Given the description of an element on the screen output the (x, y) to click on. 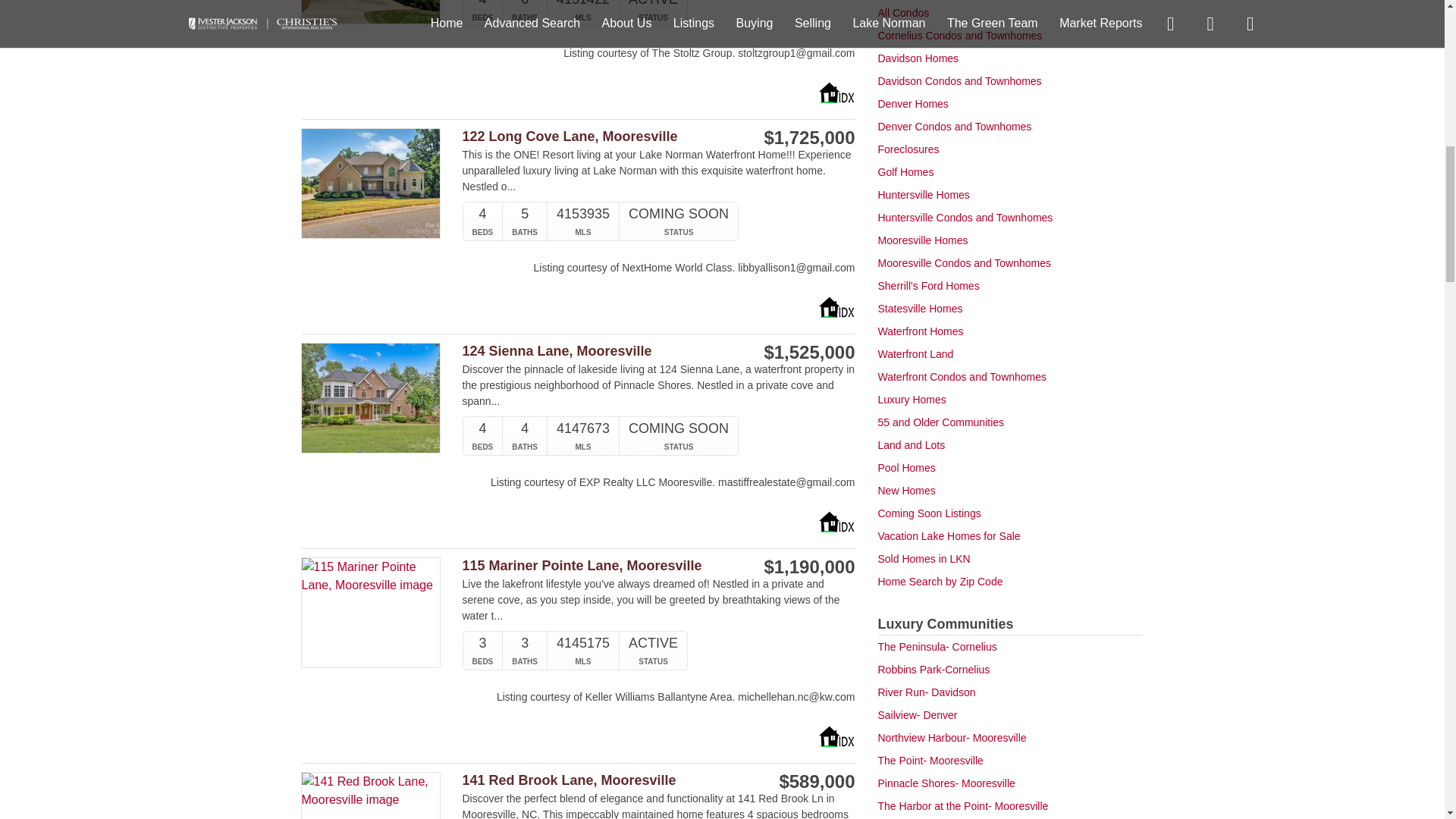
122 Long Cove Lane, Mooresville (600, 136)
115 Mariner Pointe Lane, Mooresville (600, 565)
141 Red Brook Lane, Mooresville (600, 780)
124 Sienna Lane, Mooresville (600, 351)
